Given the description of an element on the screen output the (x, y) to click on. 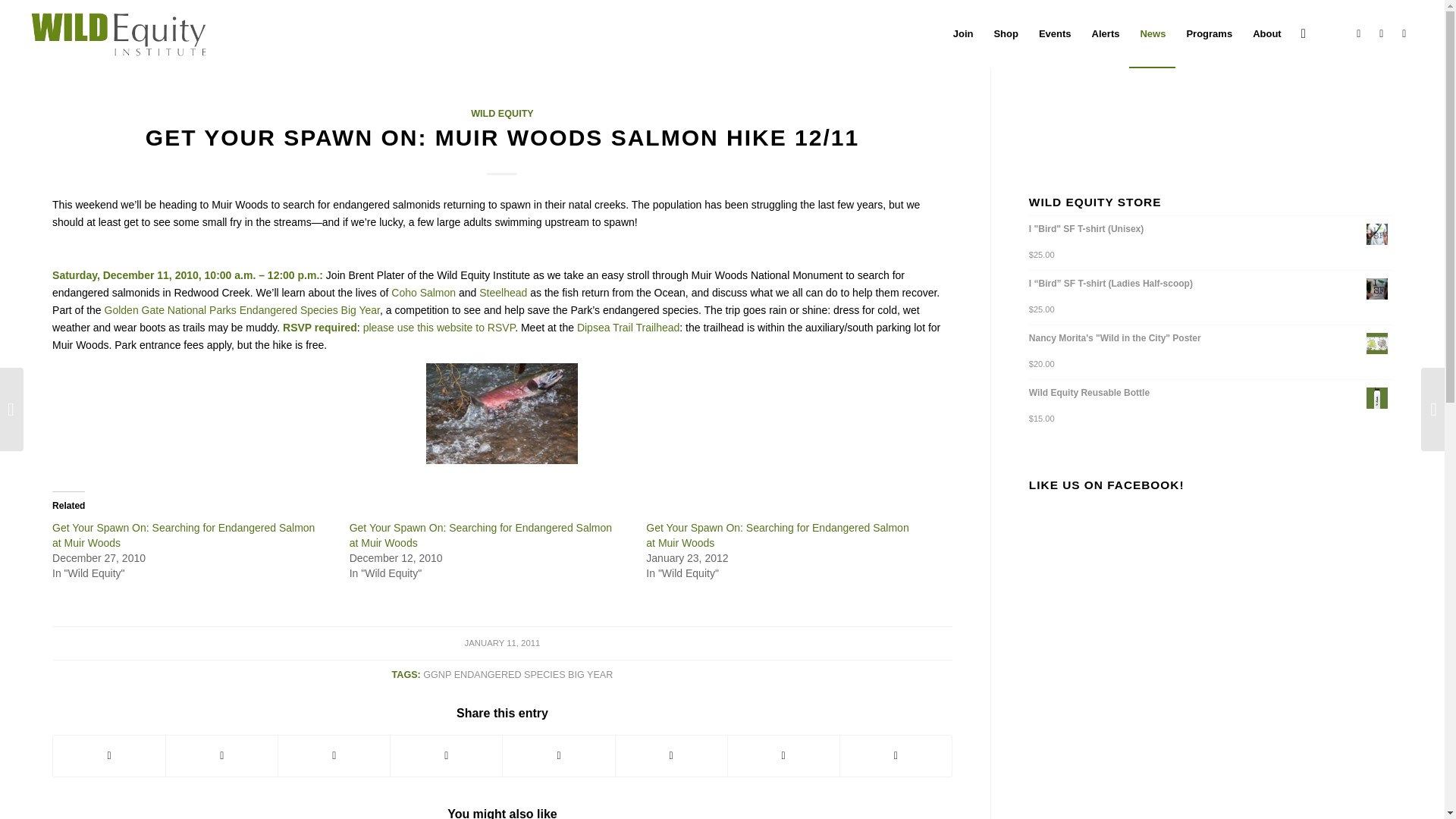
X (1381, 33)
Dipsea Trail Trailhead (627, 327)
Facebook (1359, 33)
WILD EQUITY (502, 113)
Events (1054, 33)
Shop (1004, 33)
Join (963, 33)
transparent-logo (119, 33)
Programs (1207, 33)
GGNP ENDANGERED SPECIES BIG YEAR (517, 674)
Steelhead (503, 292)
